Given the description of an element on the screen output the (x, y) to click on. 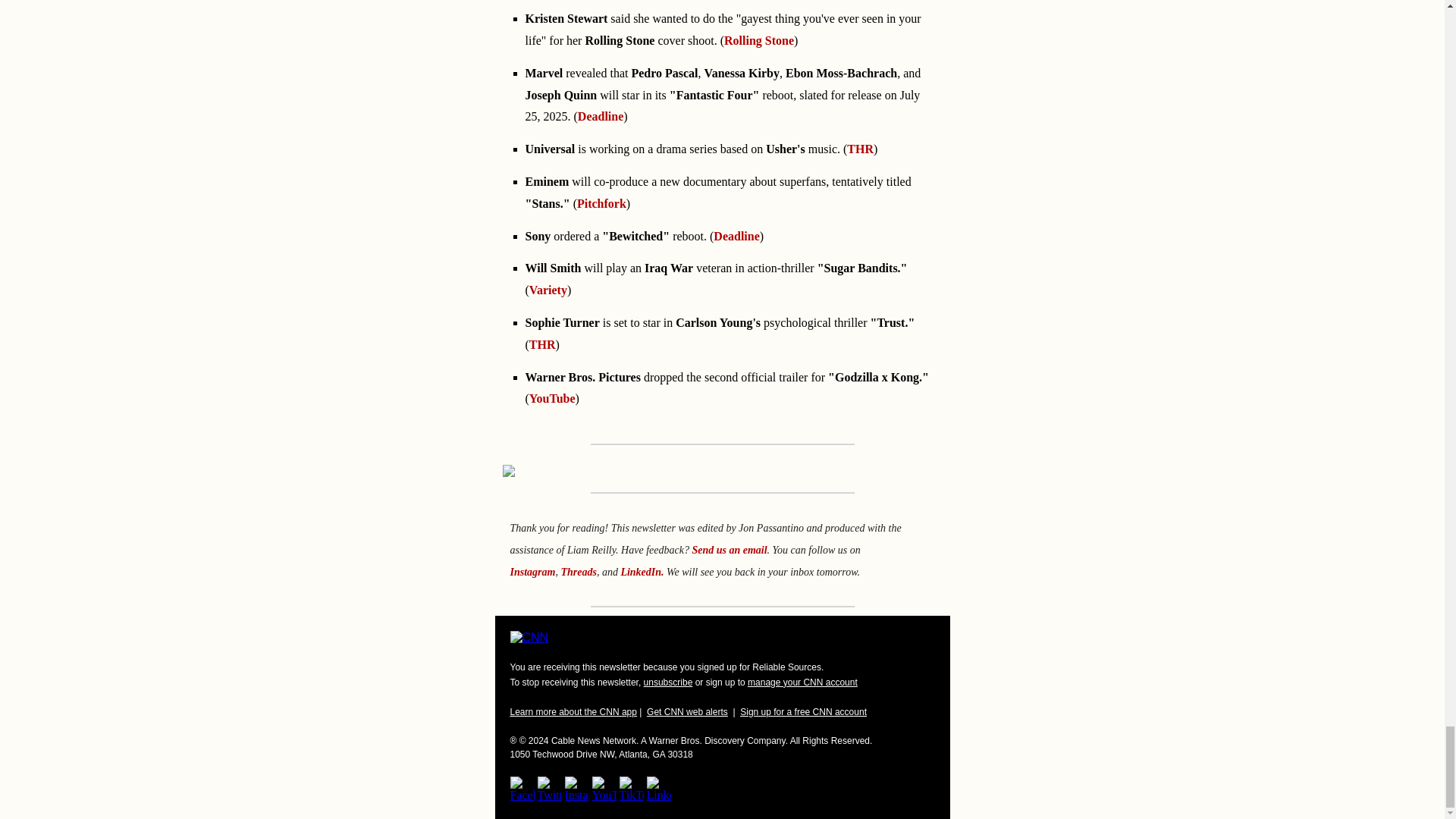
TikTok (630, 788)
Reliable Sources feedback (729, 550)
Twitter (548, 788)
Instagram (576, 788)
Facebook (521, 788)
YouTube (603, 788)
LinkedIn (657, 788)
